Given the description of an element on the screen output the (x, y) to click on. 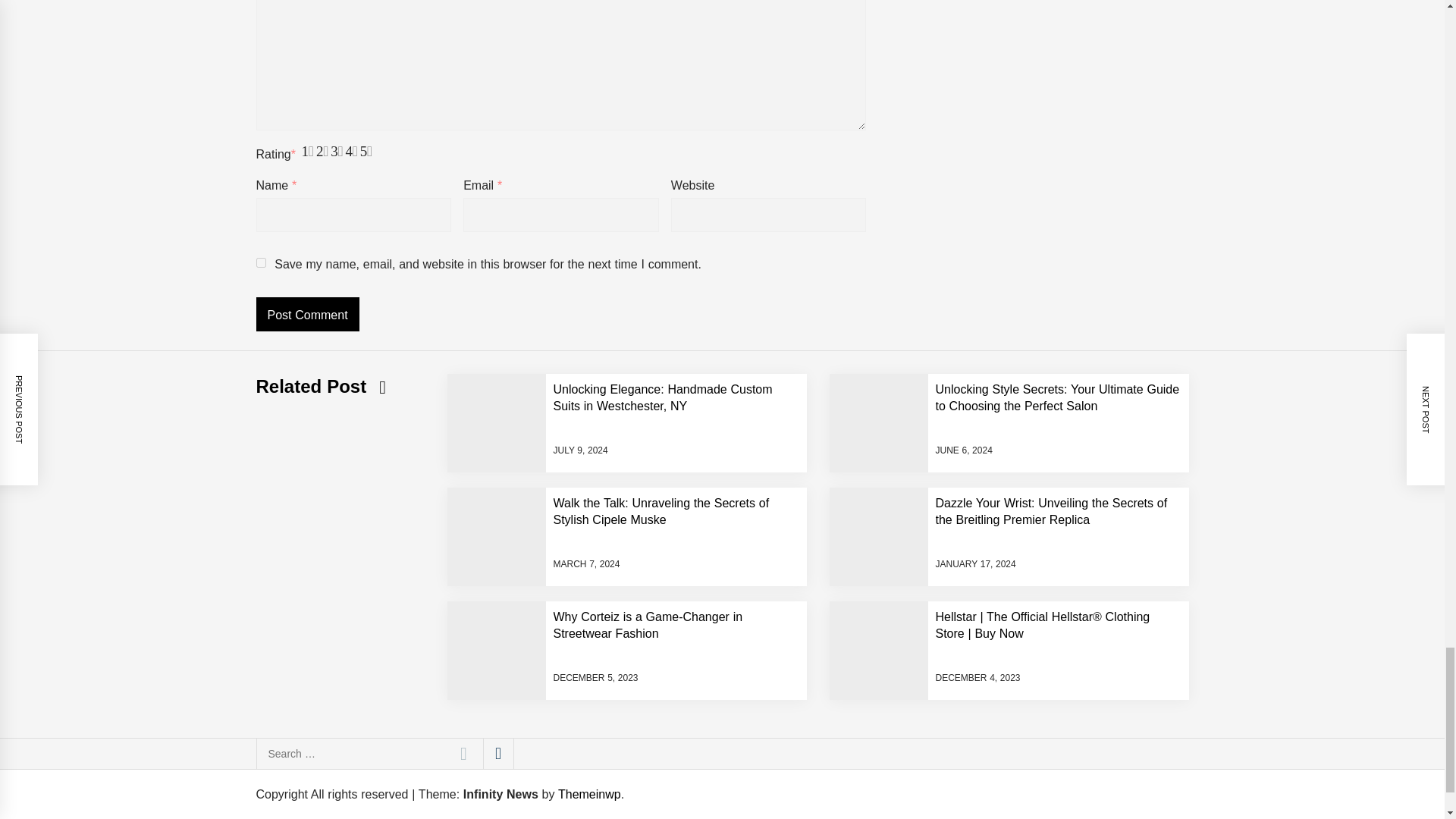
Post Comment (307, 314)
yes (261, 262)
Search (462, 753)
Search (462, 753)
